Given the description of an element on the screen output the (x, y) to click on. 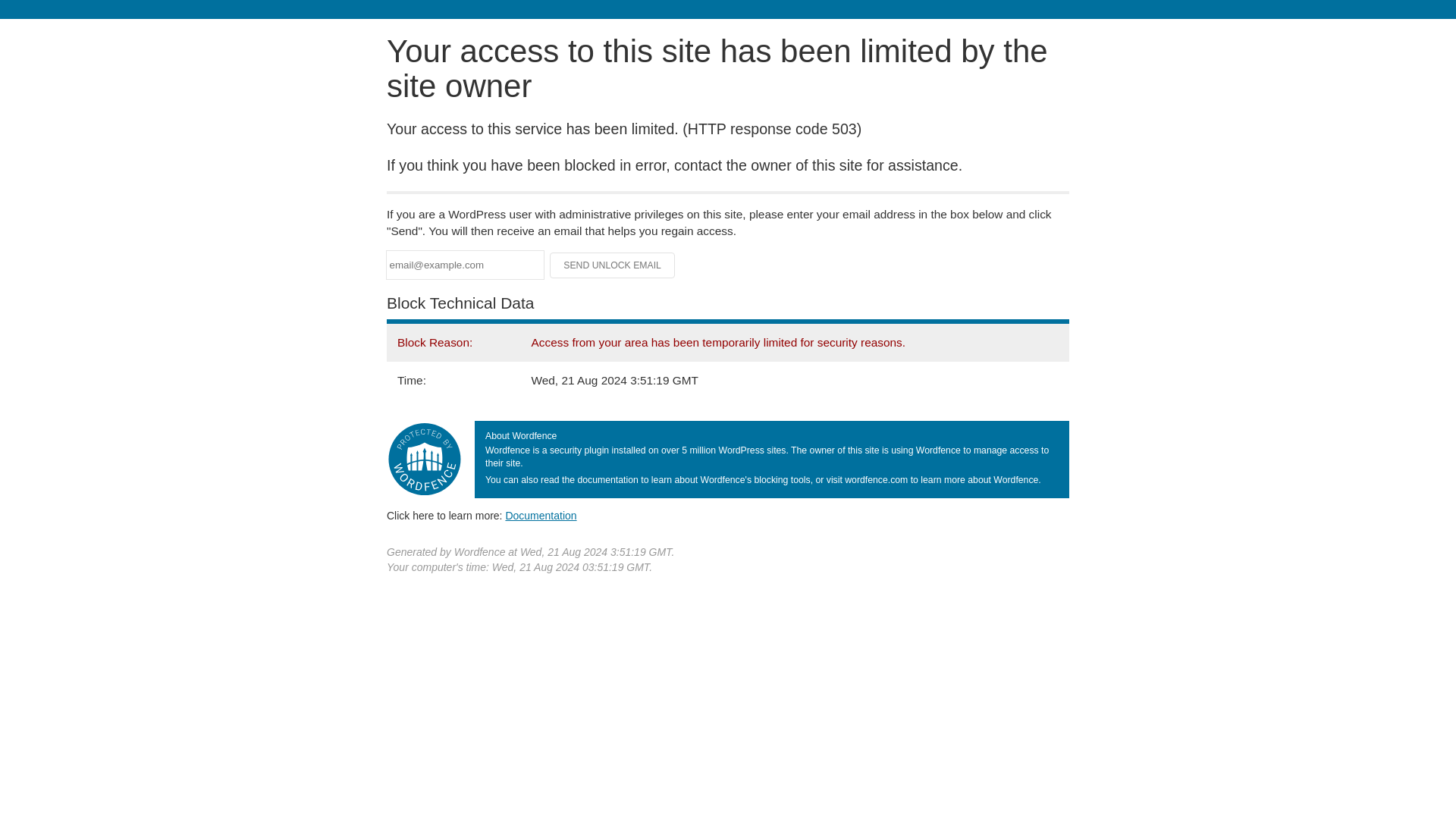
Send Unlock Email (612, 265)
Documentation (540, 515)
Send Unlock Email (612, 265)
